Given the description of an element on the screen output the (x, y) to click on. 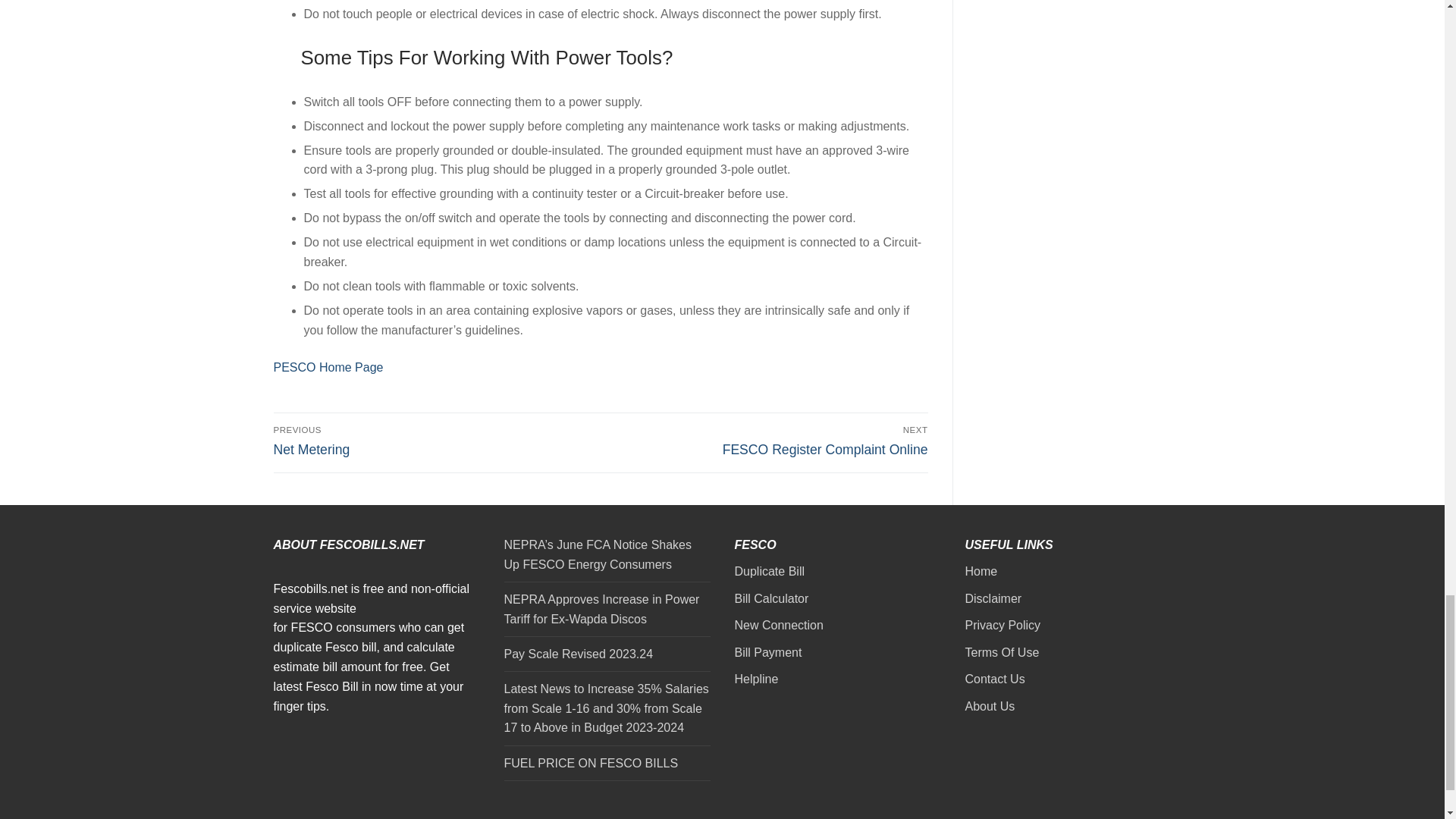
FUEL PRICE ON FESCO BILLS (606, 767)
NEPRA Approves Increase in Power Tariff for Ex-Wapda Discos (606, 613)
PESCO Home Page (433, 441)
Pay Scale Revised 2023.24 (327, 367)
